Given the description of an element on the screen output the (x, y) to click on. 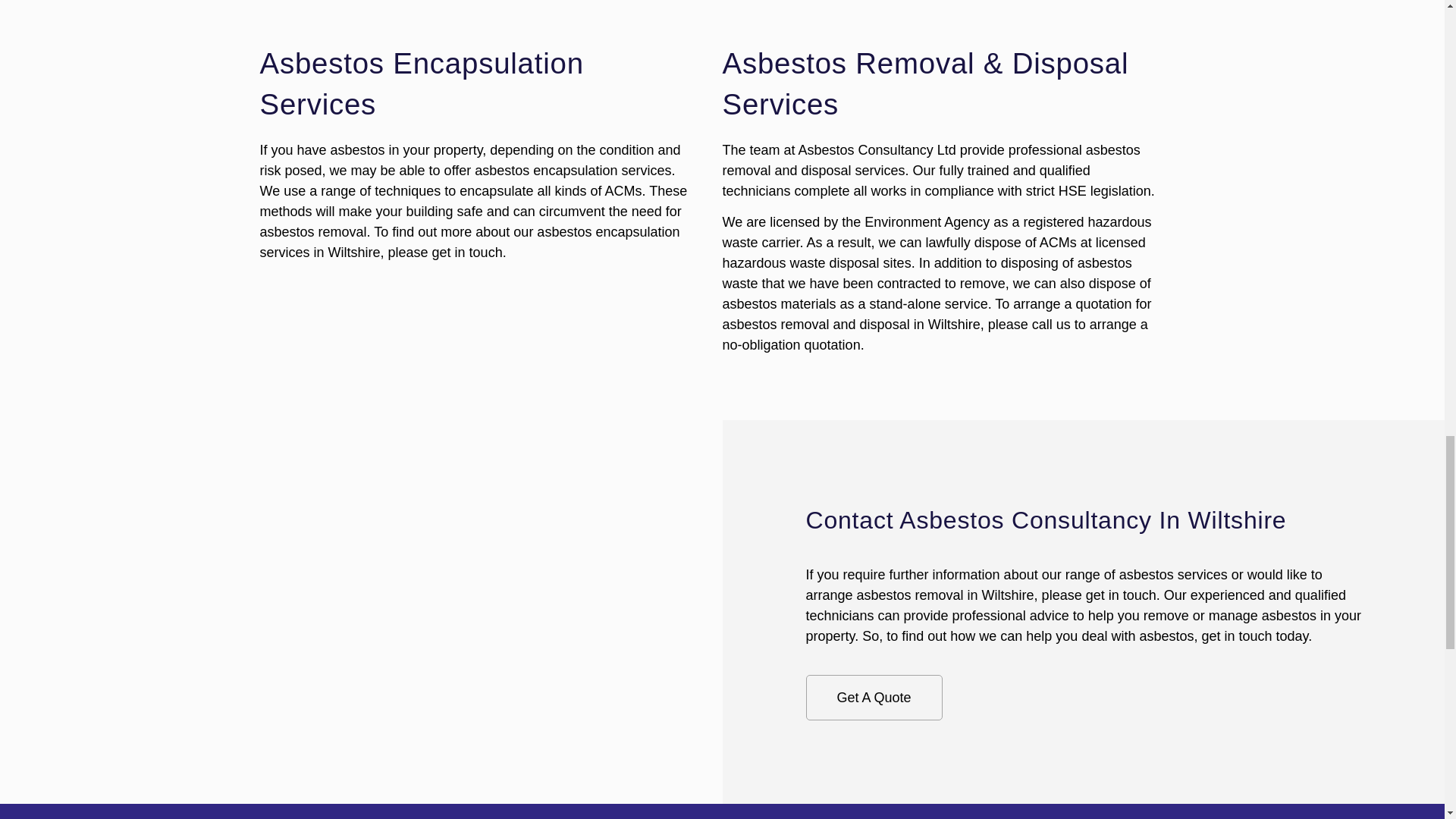
Get A Quote (873, 697)
